Given the description of an element on the screen output the (x, y) to click on. 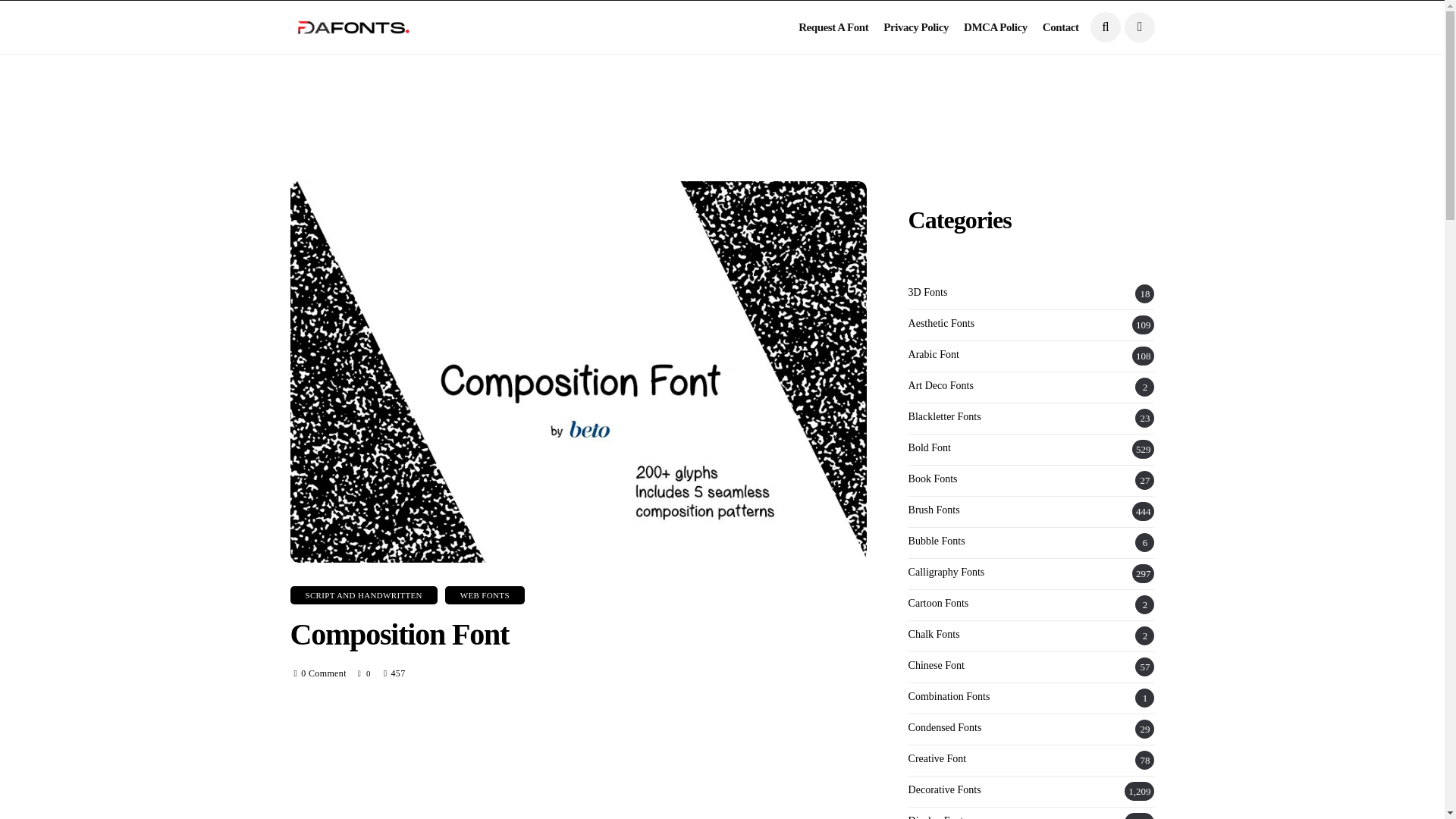
0 Comment (323, 673)
Request A Font (832, 27)
DMCA Policy (995, 27)
SCRIPT AND HANDWRITTEN (362, 595)
WEB FONTS (484, 595)
Privacy Policy (916, 27)
Advertisement (577, 764)
Like (365, 672)
0 (365, 672)
